Given the description of an element on the screen output the (x, y) to click on. 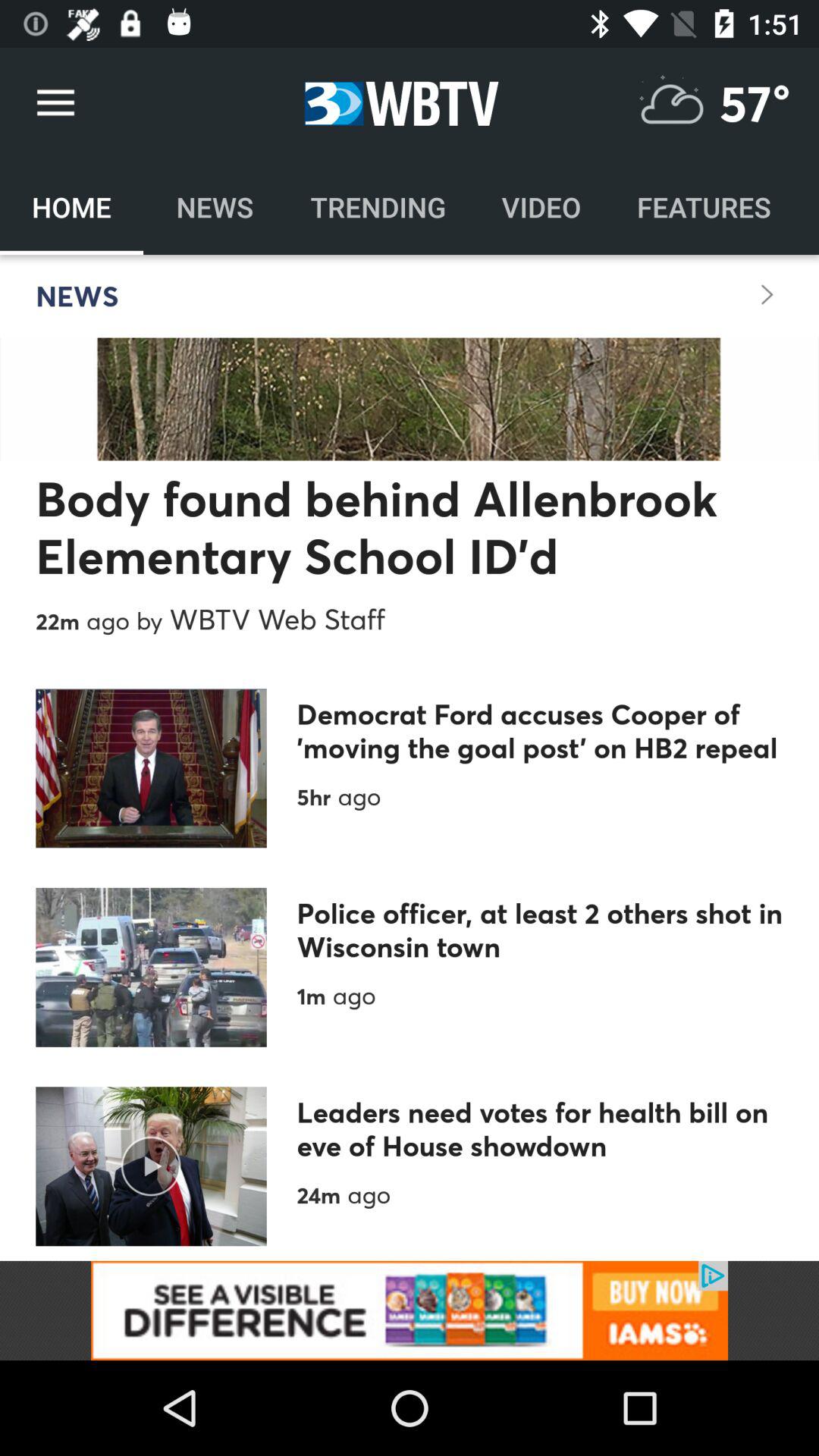
select the option beside home (214, 206)
click on the second image from top (151, 967)
